Given the description of an element on the screen output the (x, y) to click on. 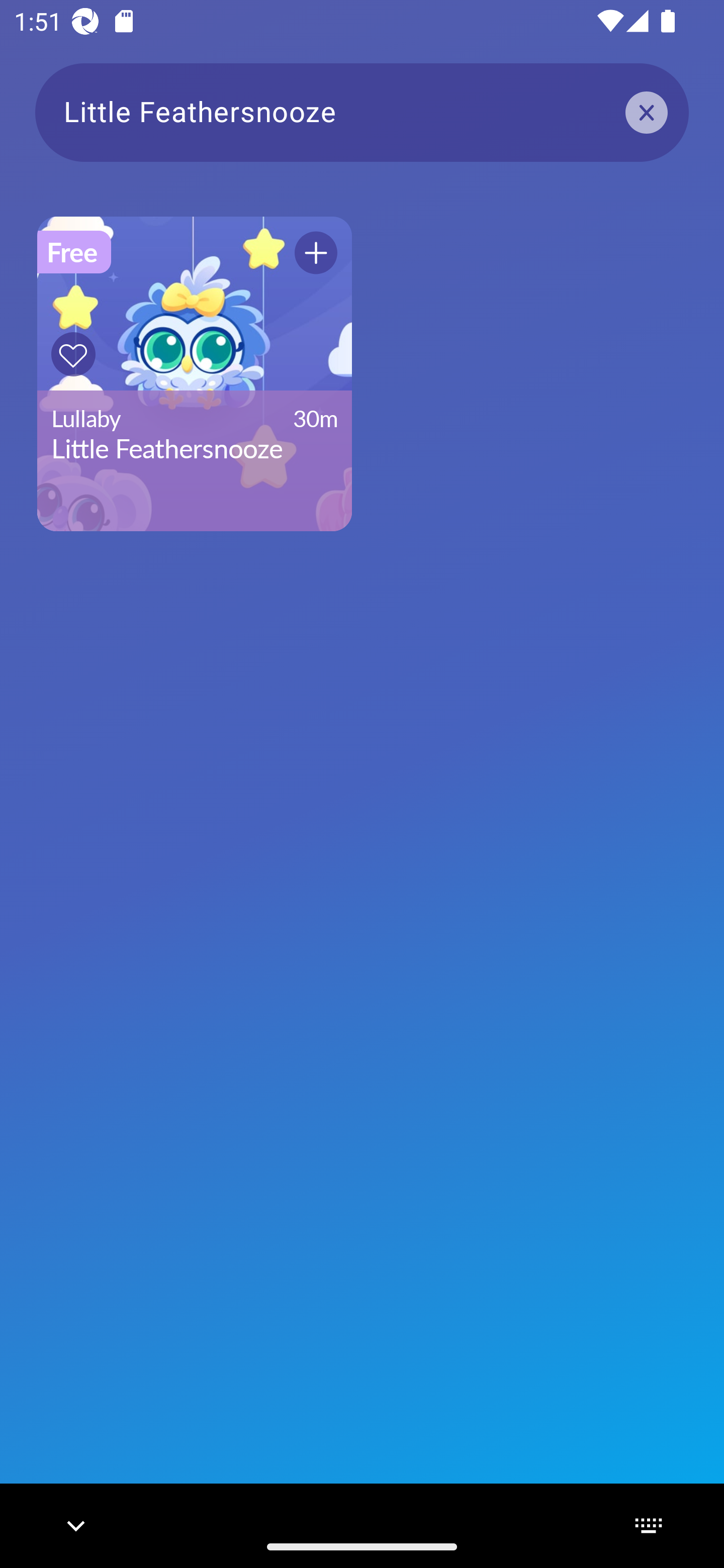
Little Feathersnooze (361, 111)
Button (315, 252)
Button (73, 354)
